Given the description of an element on the screen output the (x, y) to click on. 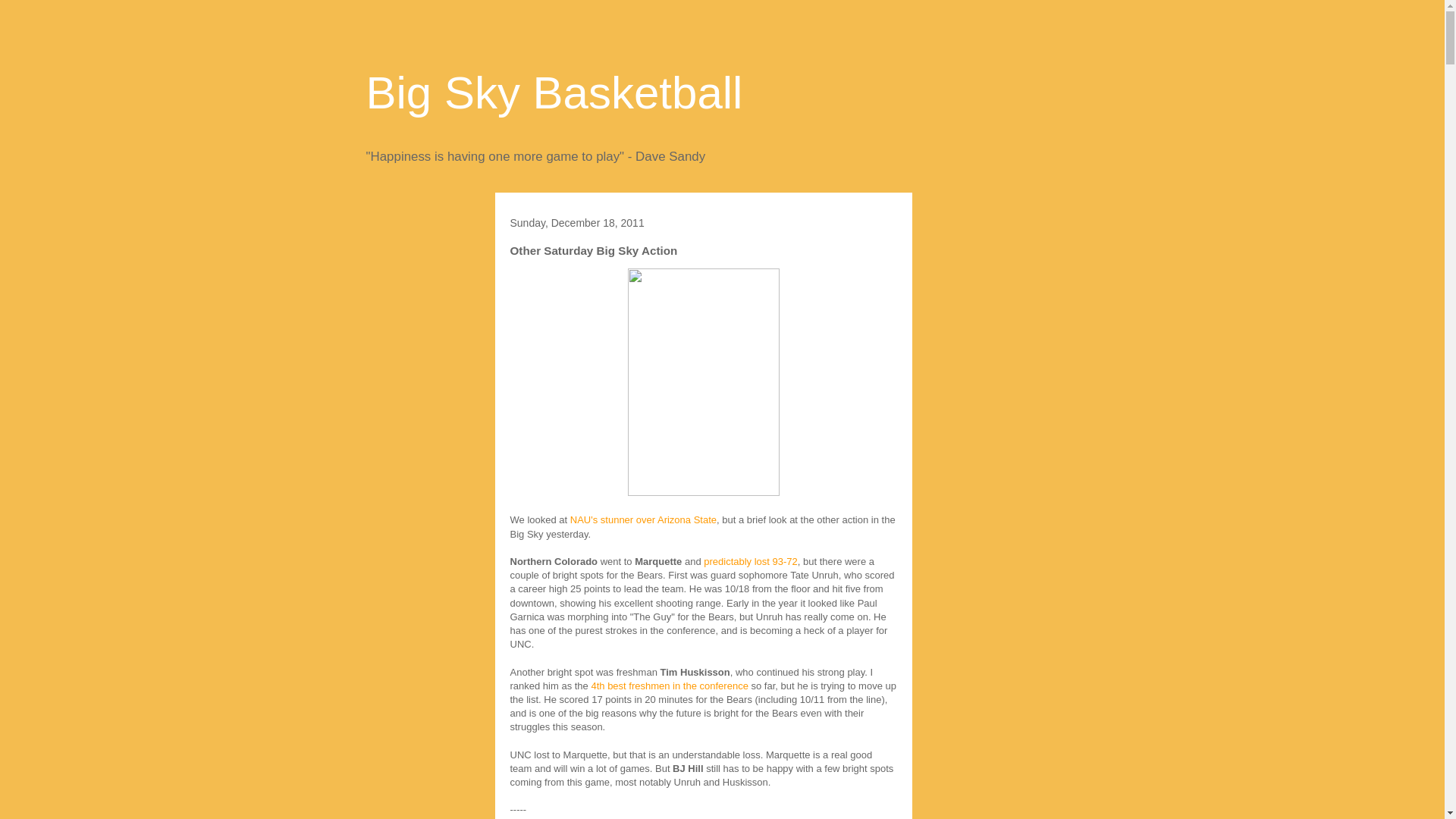
Big Sky Basketball (553, 92)
predictably lost 93-72 (749, 561)
NAU's stunner over Arizona State (643, 519)
4th best freshmen in the conference (669, 685)
